Given the description of an element on the screen output the (x, y) to click on. 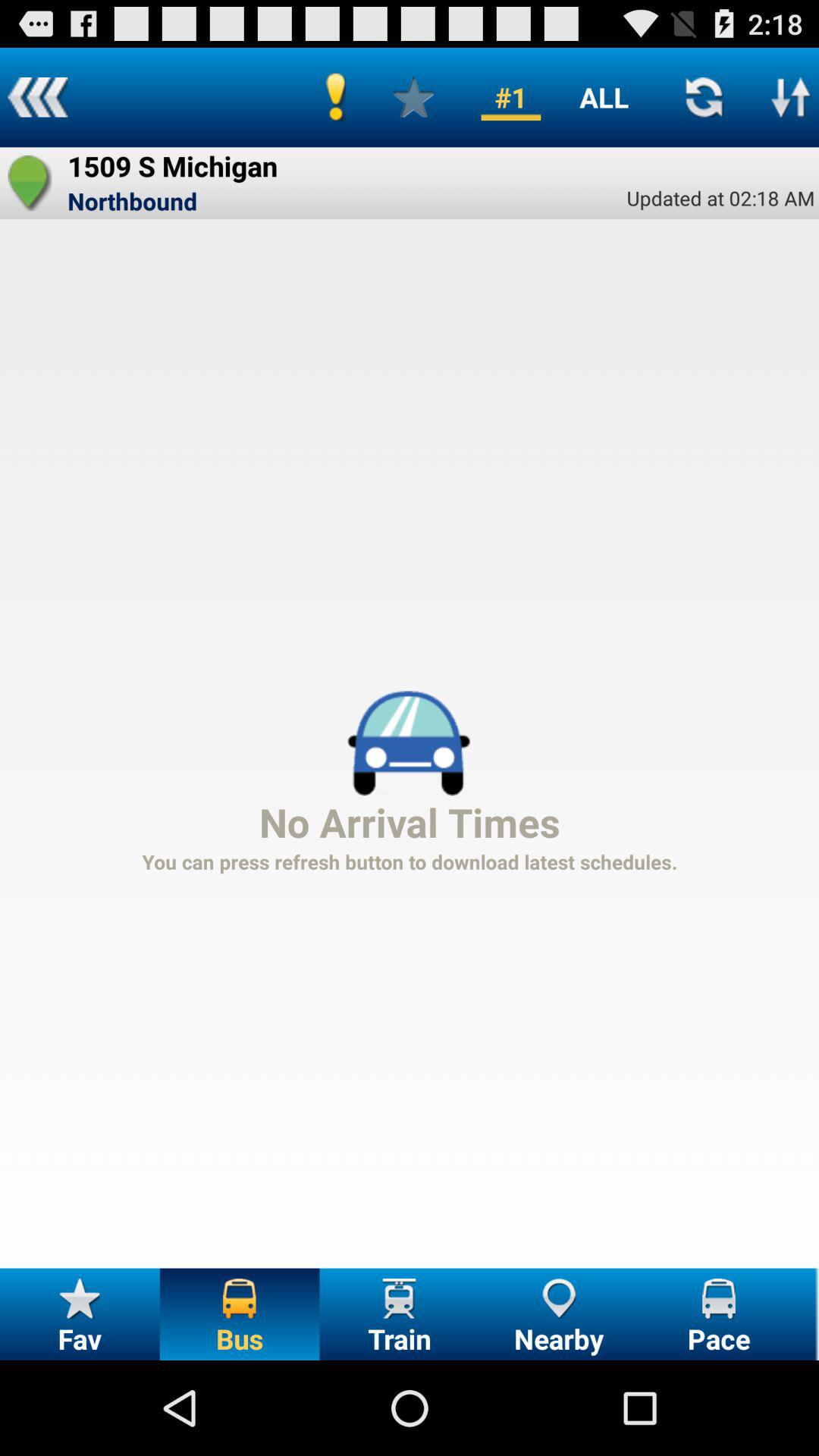
current location (29, 183)
